Given the description of an element on the screen output the (x, y) to click on. 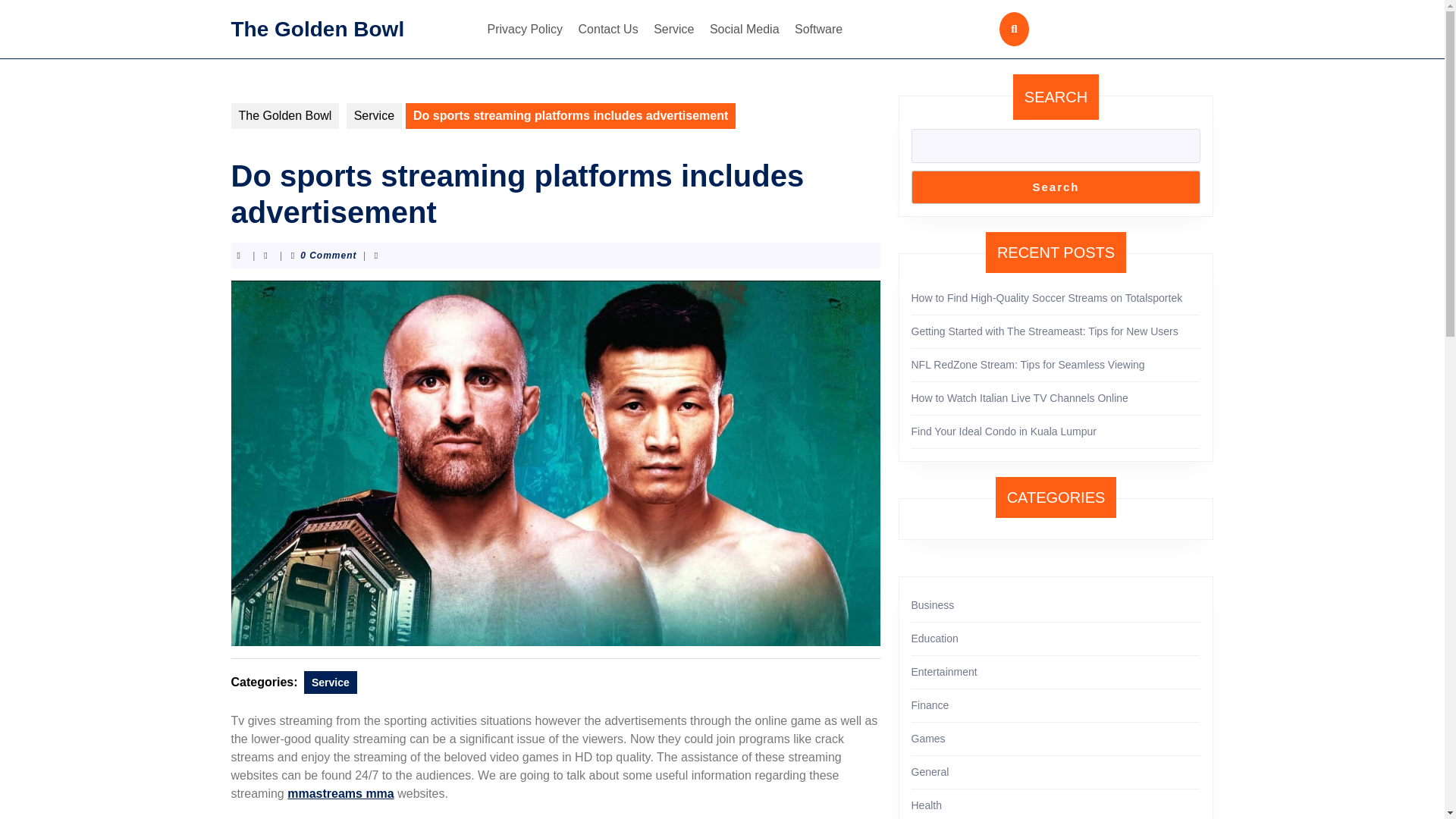
Service (673, 28)
Business (933, 604)
How to Find High-Quality Soccer Streams on Totalsportek (1046, 297)
The Golden Bowl (284, 115)
Find Your Ideal Condo in Kuala Lumpur (1003, 431)
Education (934, 638)
mmastreams mma (340, 793)
Getting Started with The Streameast: Tips for New Users (1044, 331)
Service (373, 115)
Service (330, 681)
Software (818, 28)
Search (1056, 186)
NFL RedZone Stream: Tips for Seamless Viewing (1027, 364)
Contact Us (608, 28)
Privacy Policy (524, 28)
